Given the description of an element on the screen output the (x, y) to click on. 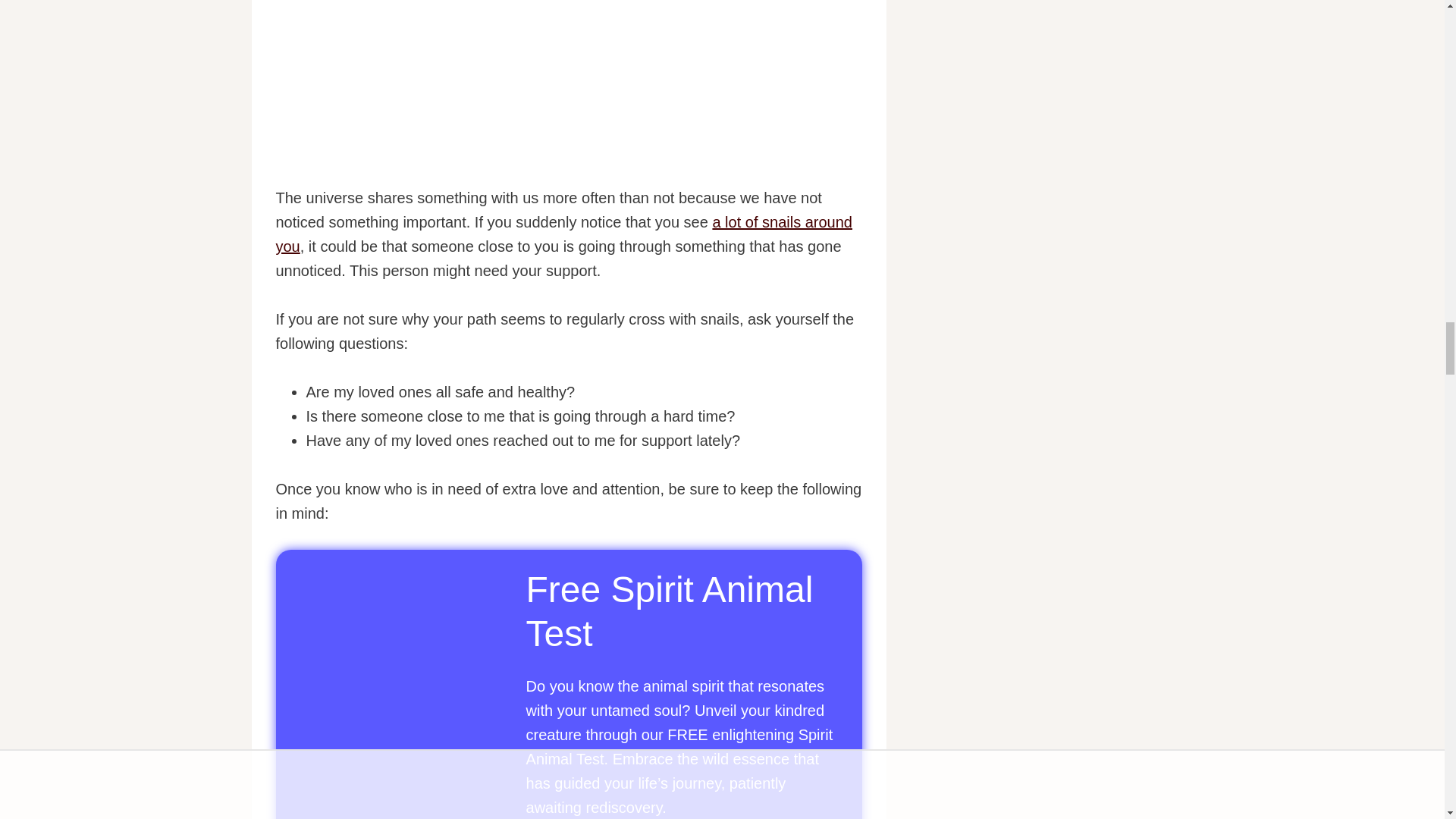
a lot of snails around you (563, 233)
